Given the description of an element on the screen output the (x, y) to click on. 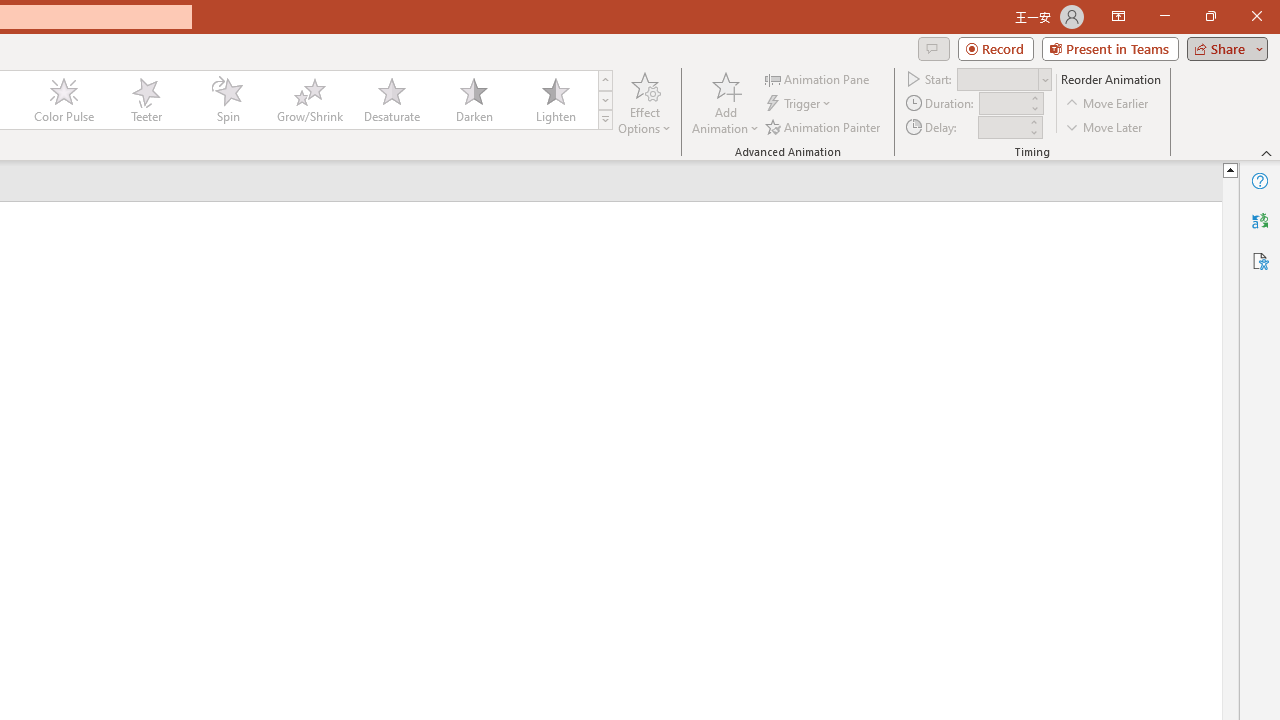
Teeter (145, 100)
Lighten (555, 100)
Darken (473, 100)
Grow/Shrink (309, 100)
Spin (227, 100)
